Given the description of an element on the screen output the (x, y) to click on. 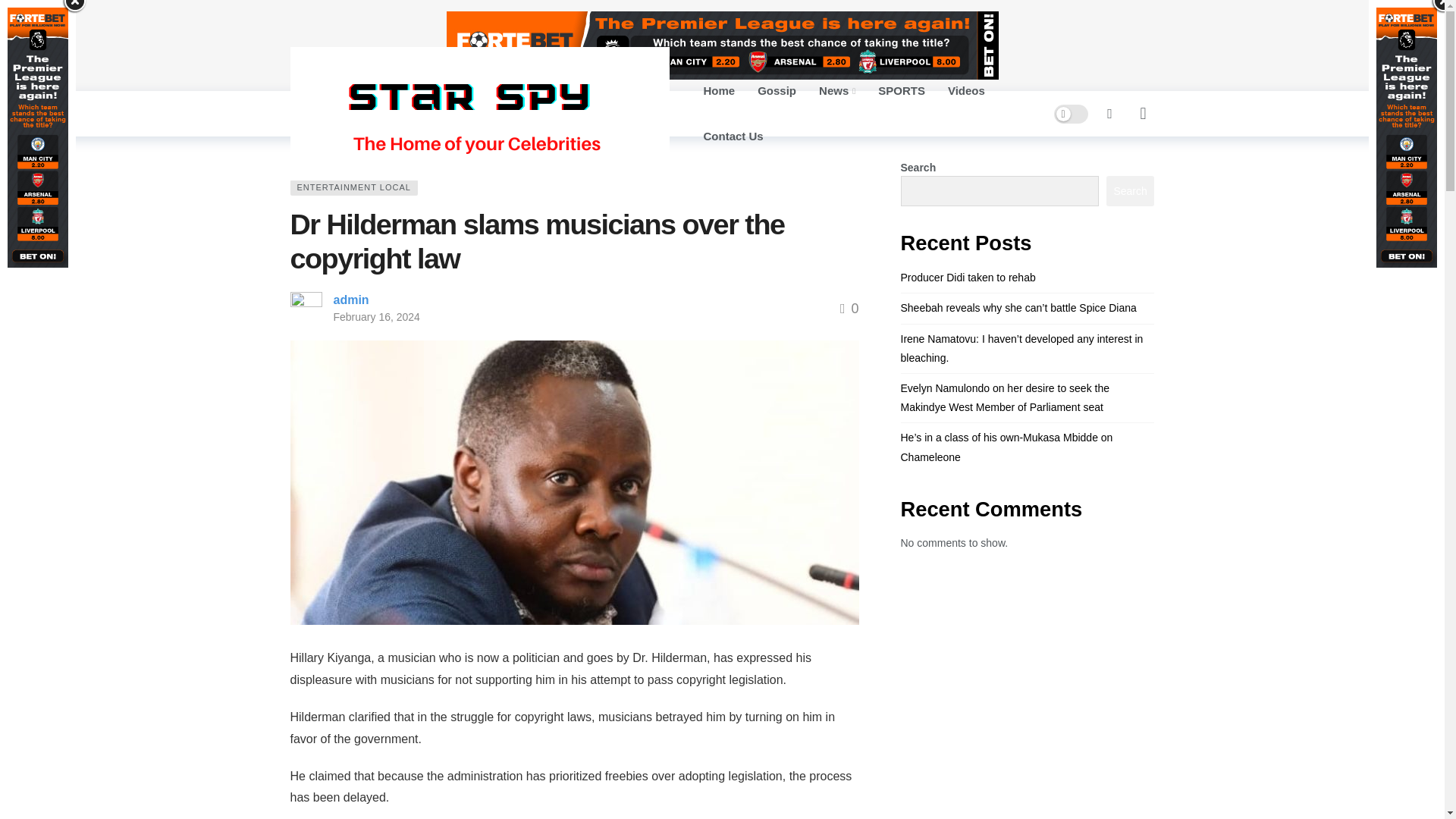
2024 (341, 155)
admin (351, 299)
SPORTS (901, 90)
0 (849, 308)
Home (718, 90)
Home (301, 155)
News (837, 90)
Videos (965, 90)
February 16, 2024 (376, 316)
February (386, 155)
